Given the description of an element on the screen output the (x, y) to click on. 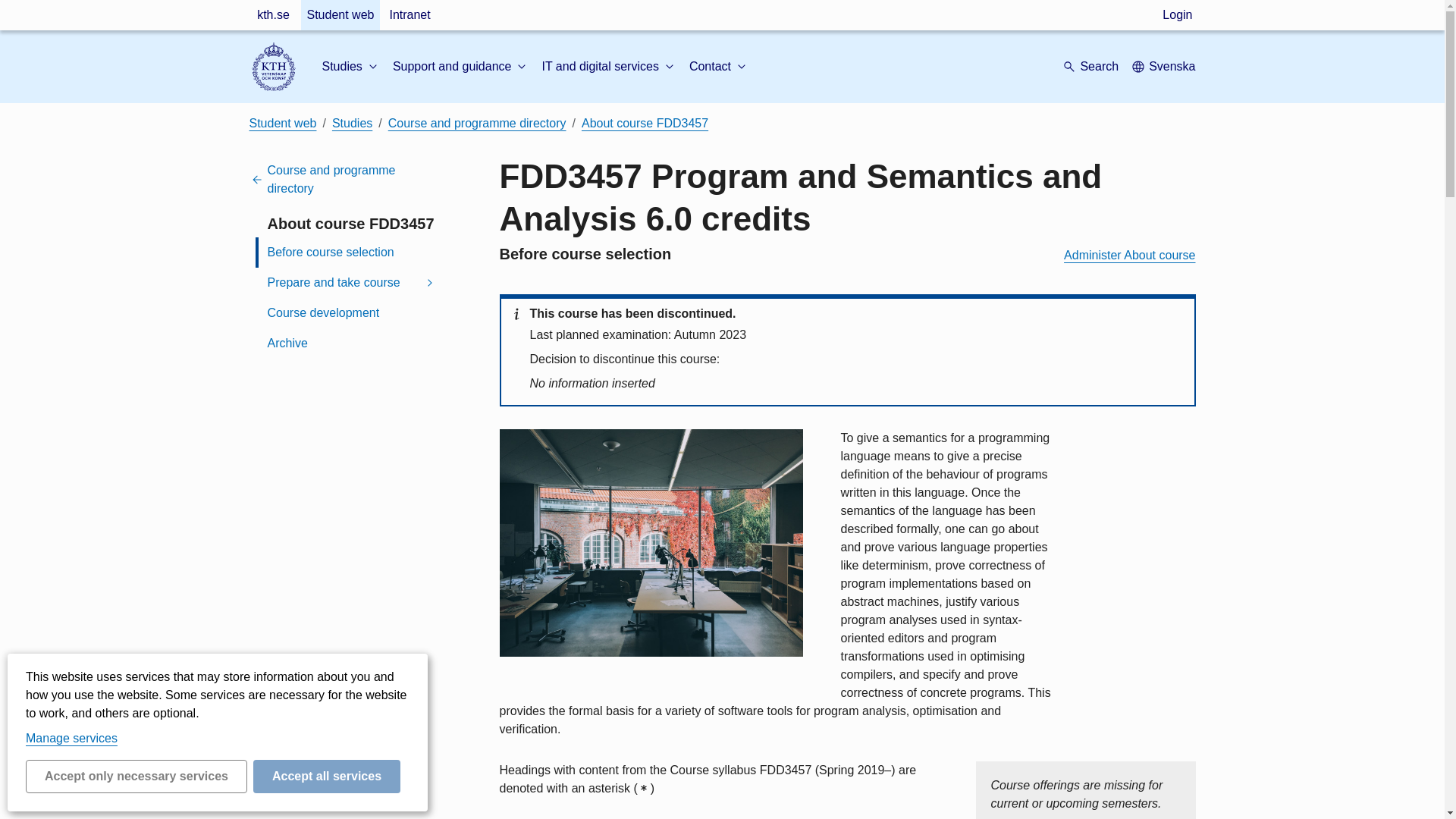
Intranet (408, 15)
Studies (350, 66)
IT and digital services (609, 66)
Student web (339, 15)
Contact (718, 66)
Login (1176, 15)
Administer About course (1129, 254)
kth.se (272, 15)
Support and guidance (461, 66)
